Given the description of an element on the screen output the (x, y) to click on. 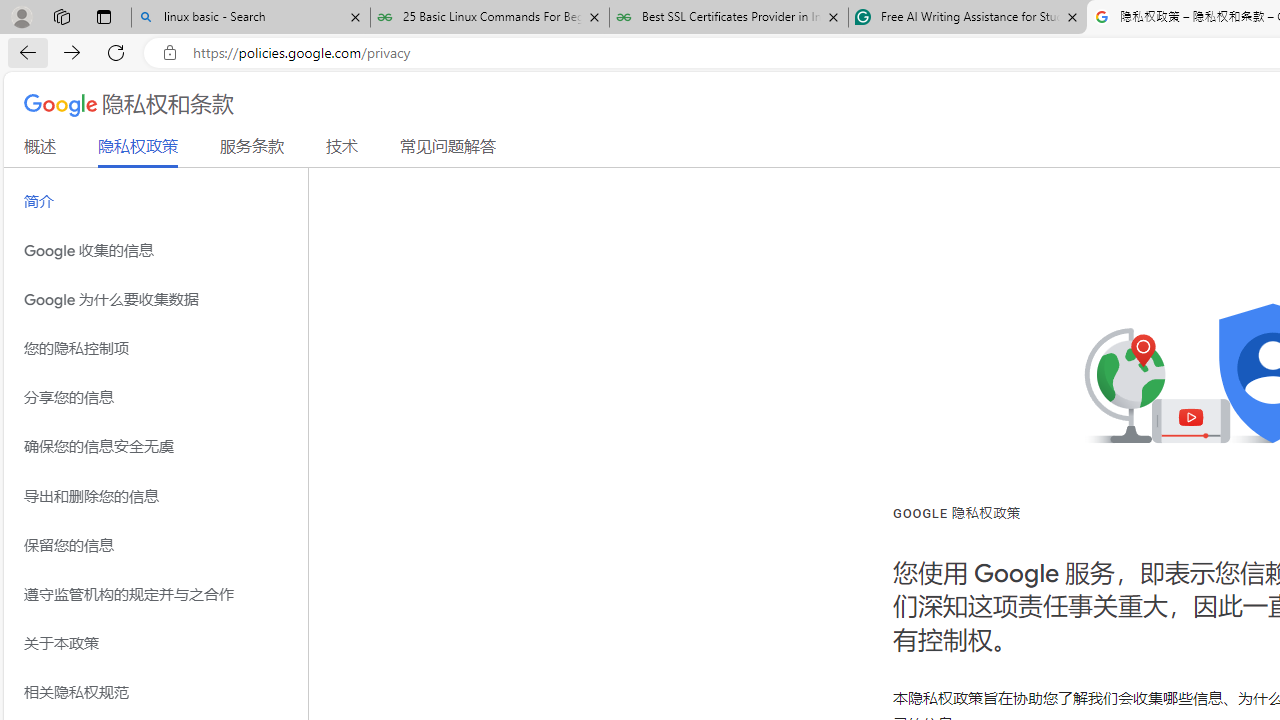
Forward (72, 52)
Free AI Writing Assistance for Students | Grammarly (967, 17)
Refresh (115, 52)
Back (24, 52)
Workspaces (61, 16)
Tab actions menu (104, 16)
